Given the description of an element on the screen output the (x, y) to click on. 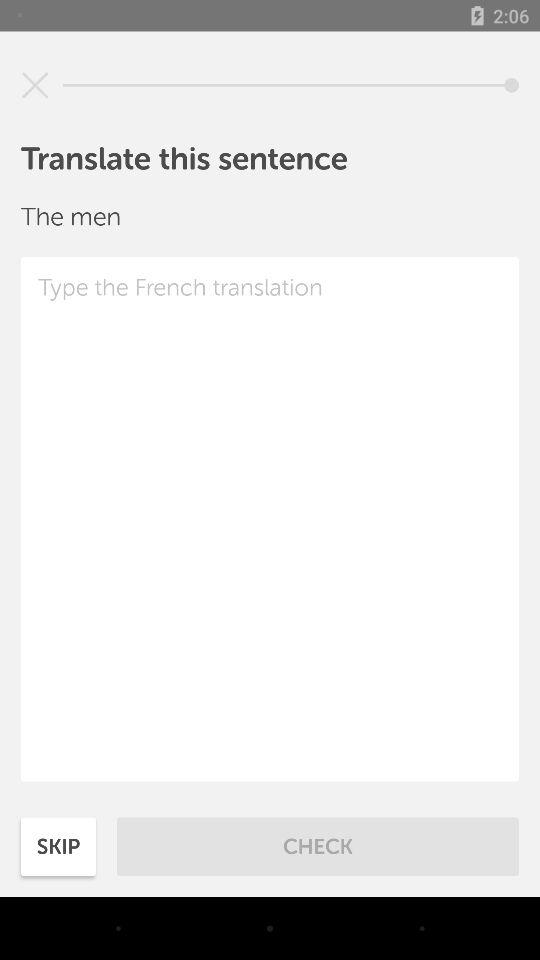
launch the check item (318, 846)
